Given the description of an element on the screen output the (x, y) to click on. 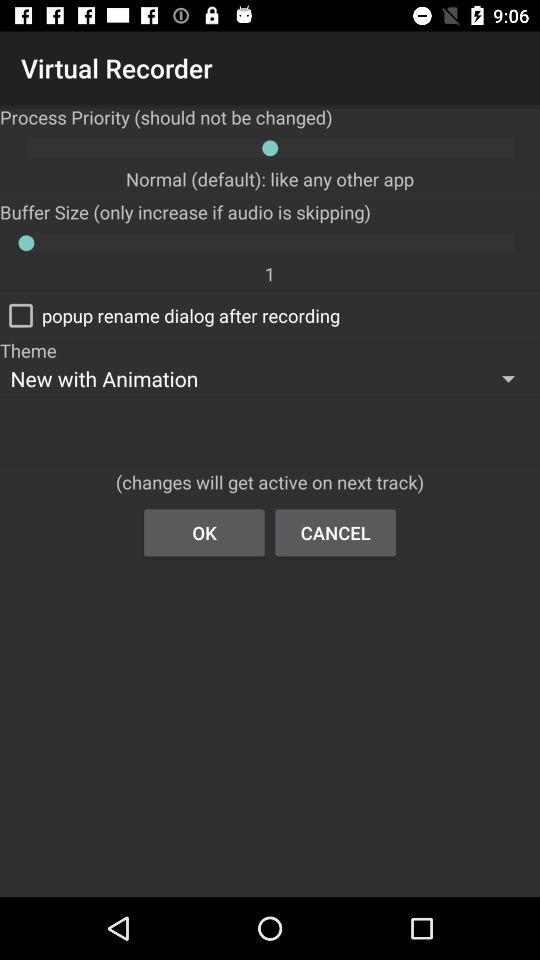
flip until cancel icon (335, 532)
